Given the description of an element on the screen output the (x, y) to click on. 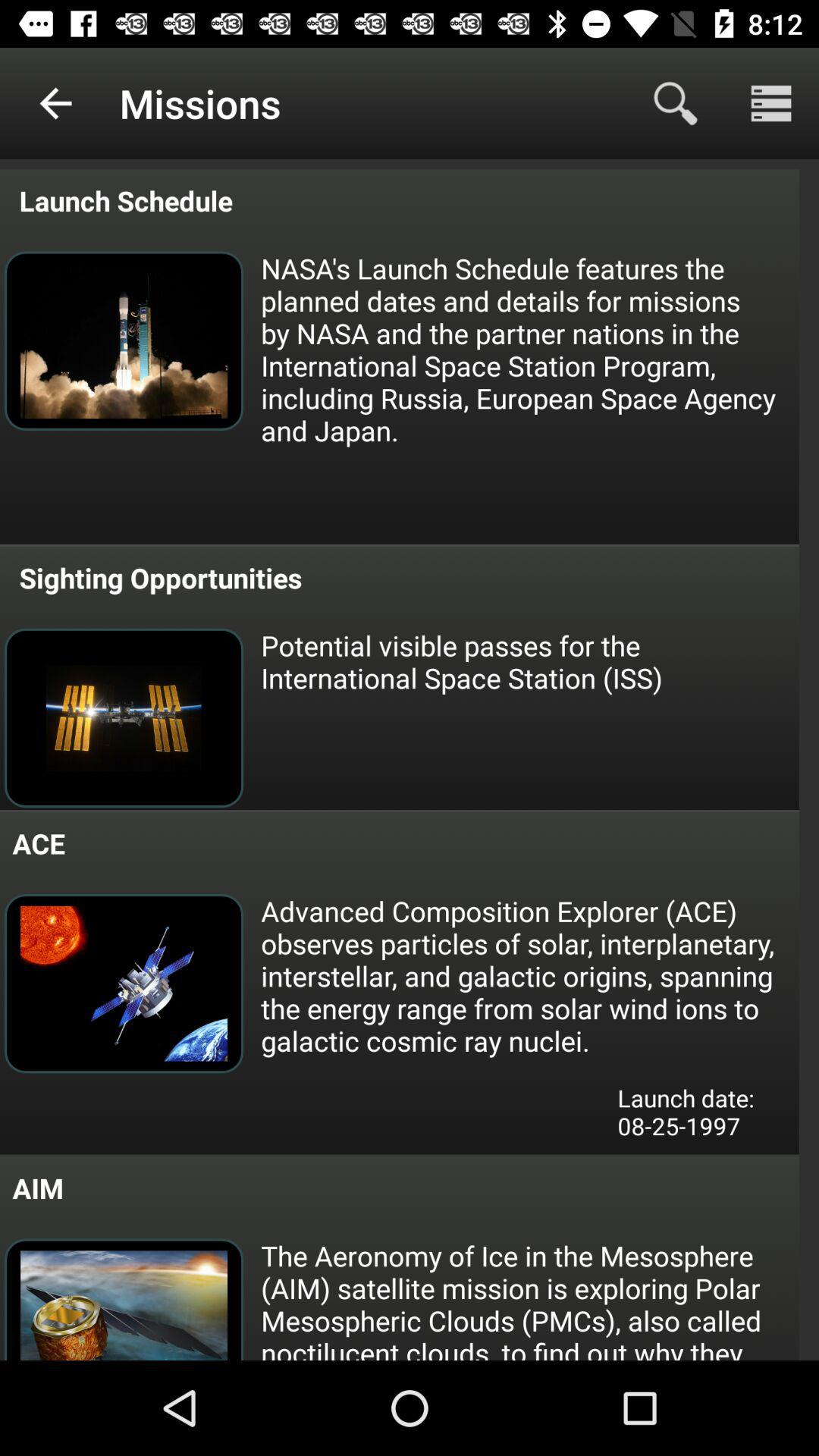
choose the nasa s launch item (528, 349)
